Given the description of an element on the screen output the (x, y) to click on. 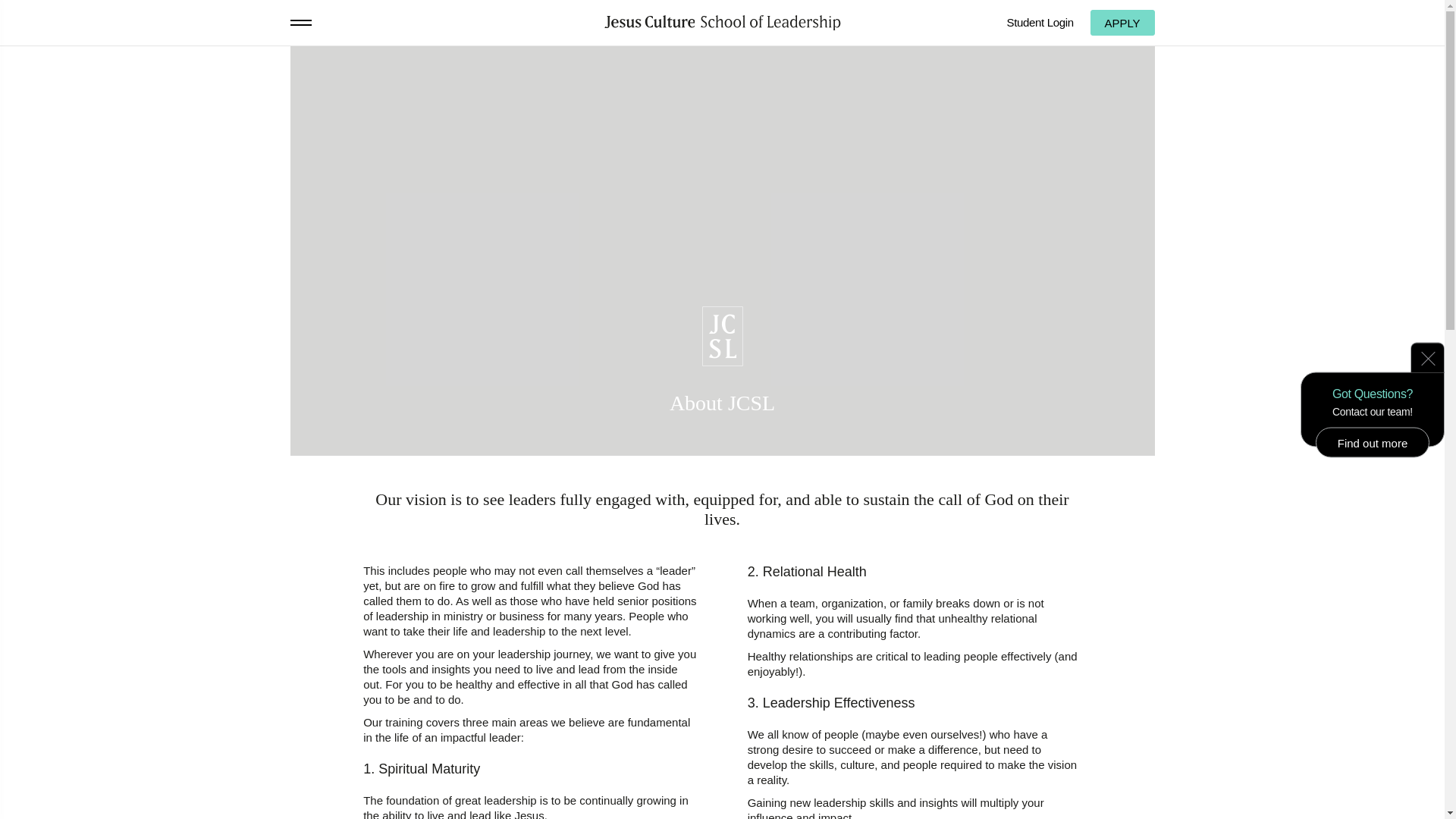
Find out more (1372, 442)
APPLY (1122, 22)
Student Login (1040, 22)
